Given the description of an element on the screen output the (x, y) to click on. 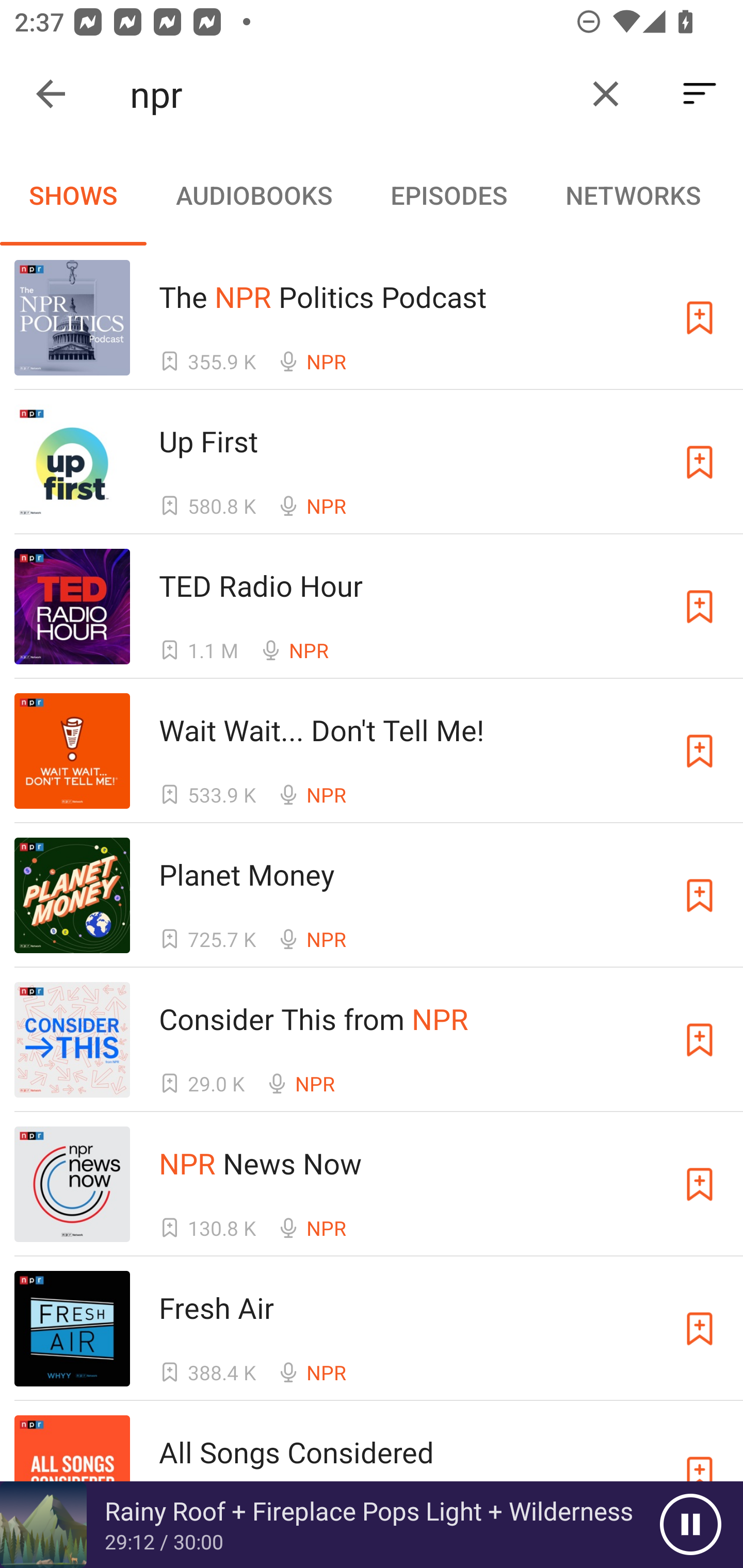
Collapse (50, 93)
Clear query (605, 93)
Sort By (699, 93)
npr (349, 94)
SHOWS (73, 195)
AUDIOBOOKS (253, 195)
EPISODES (448, 195)
NETWORKS (632, 195)
Subscribe (699, 317)
Up First Up First  580.8 K  NPR Subscribe (371, 462)
Subscribe (699, 462)
Subscribe (699, 606)
Subscribe (699, 751)
Subscribe (699, 895)
Subscribe (699, 1039)
Subscribe (699, 1183)
Fresh Air Fresh Air  388.4 K  NPR Subscribe (371, 1327)
Subscribe (699, 1328)
Pause (690, 1524)
